Given the description of an element on the screen output the (x, y) to click on. 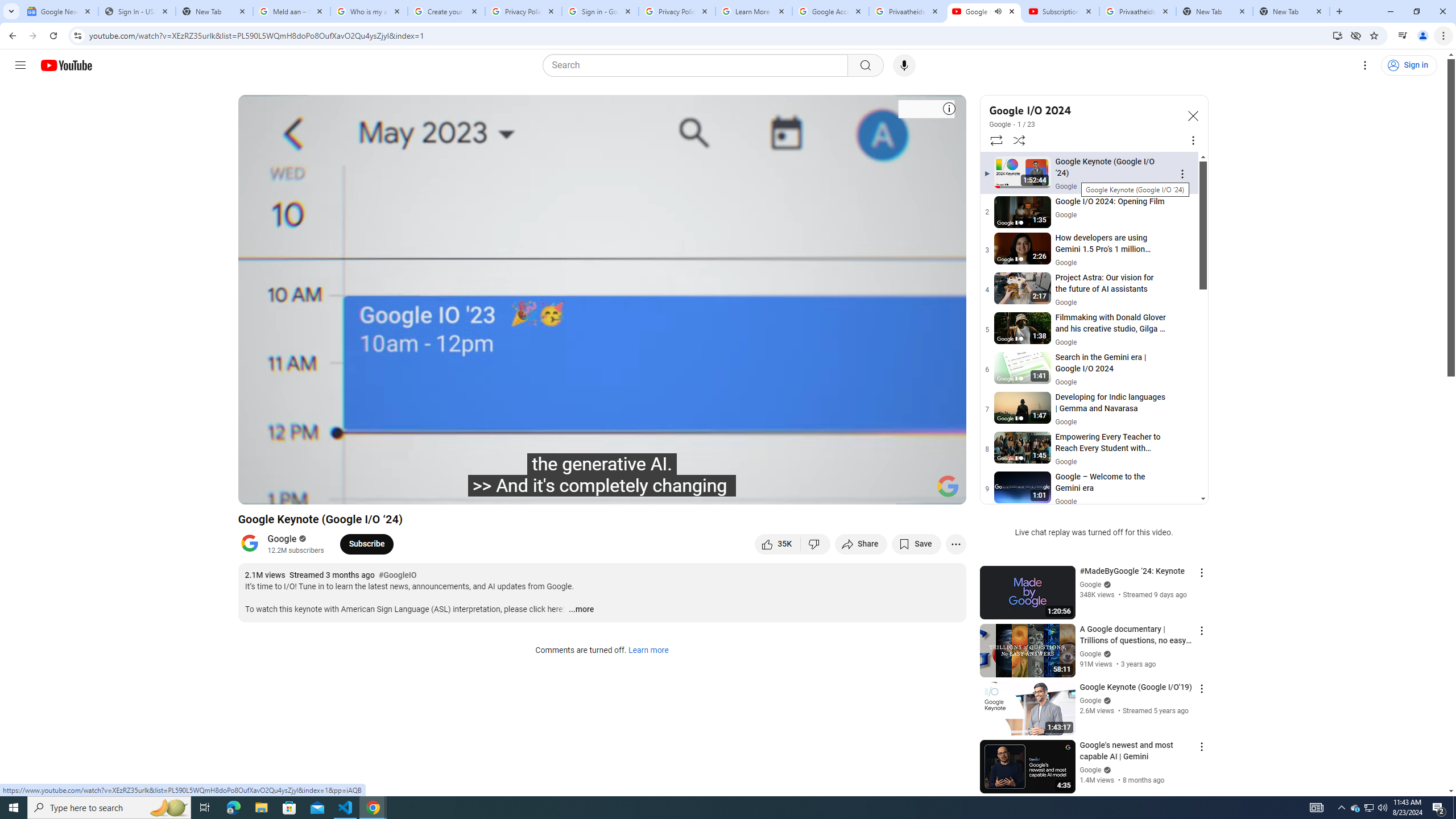
Sign in - Google Accounts (599, 11)
Channel watermark (947, 486)
Channel watermark (947, 486)
More actions (955, 543)
Google I/O 2024 (1082, 109)
Miniplayer (i) (890, 490)
